Given the description of an element on the screen output the (x, y) to click on. 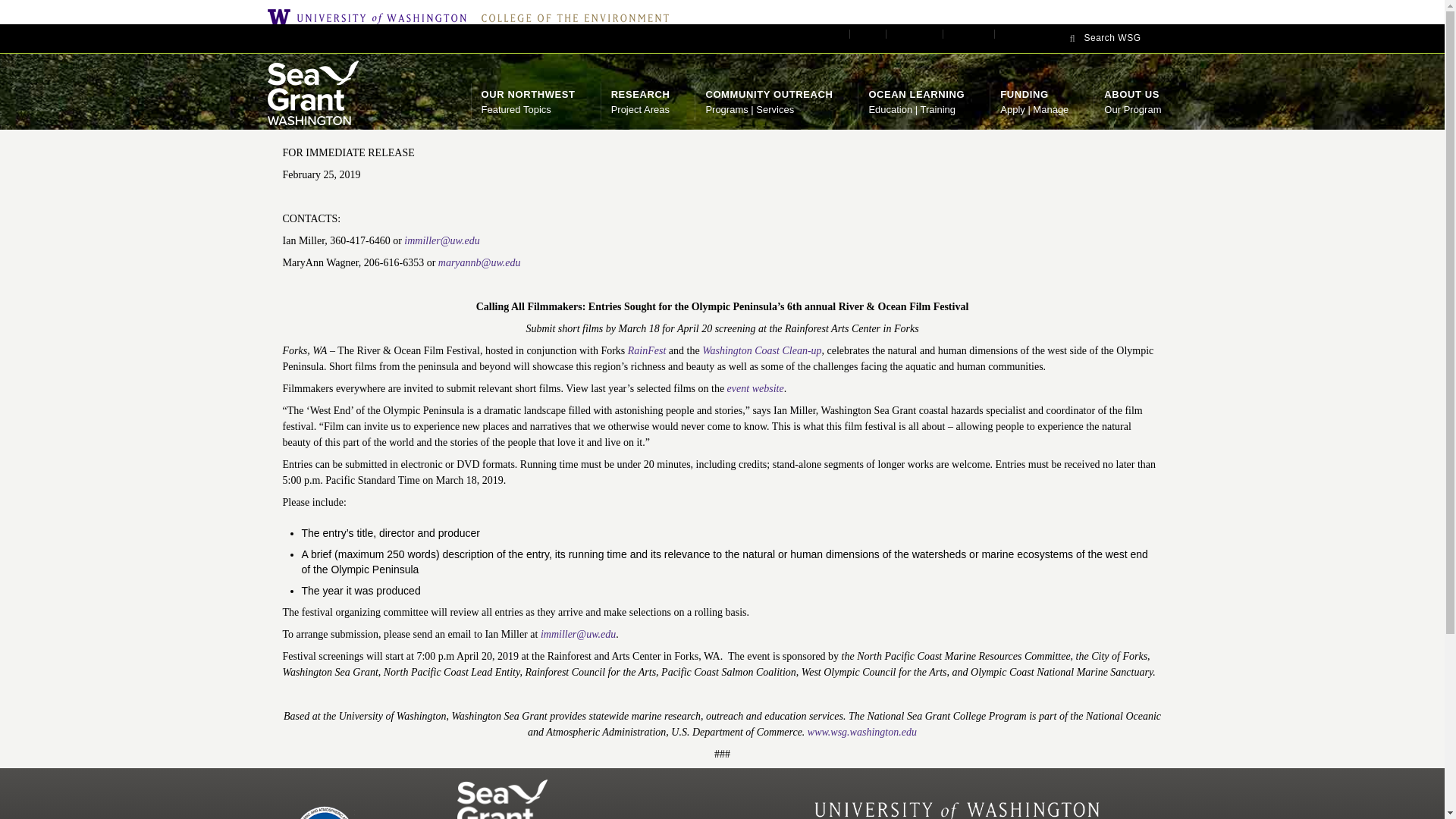
University of Washington Home Page (369, 16)
Publications (917, 33)
College of the Environment Home Page (570, 16)
University of Washington (369, 16)
Events (640, 100)
Contact (869, 33)
Search WSG (830, 33)
College of the Environment (1129, 37)
Staff Portal (570, 16)
